Given the description of an element on the screen output the (x, y) to click on. 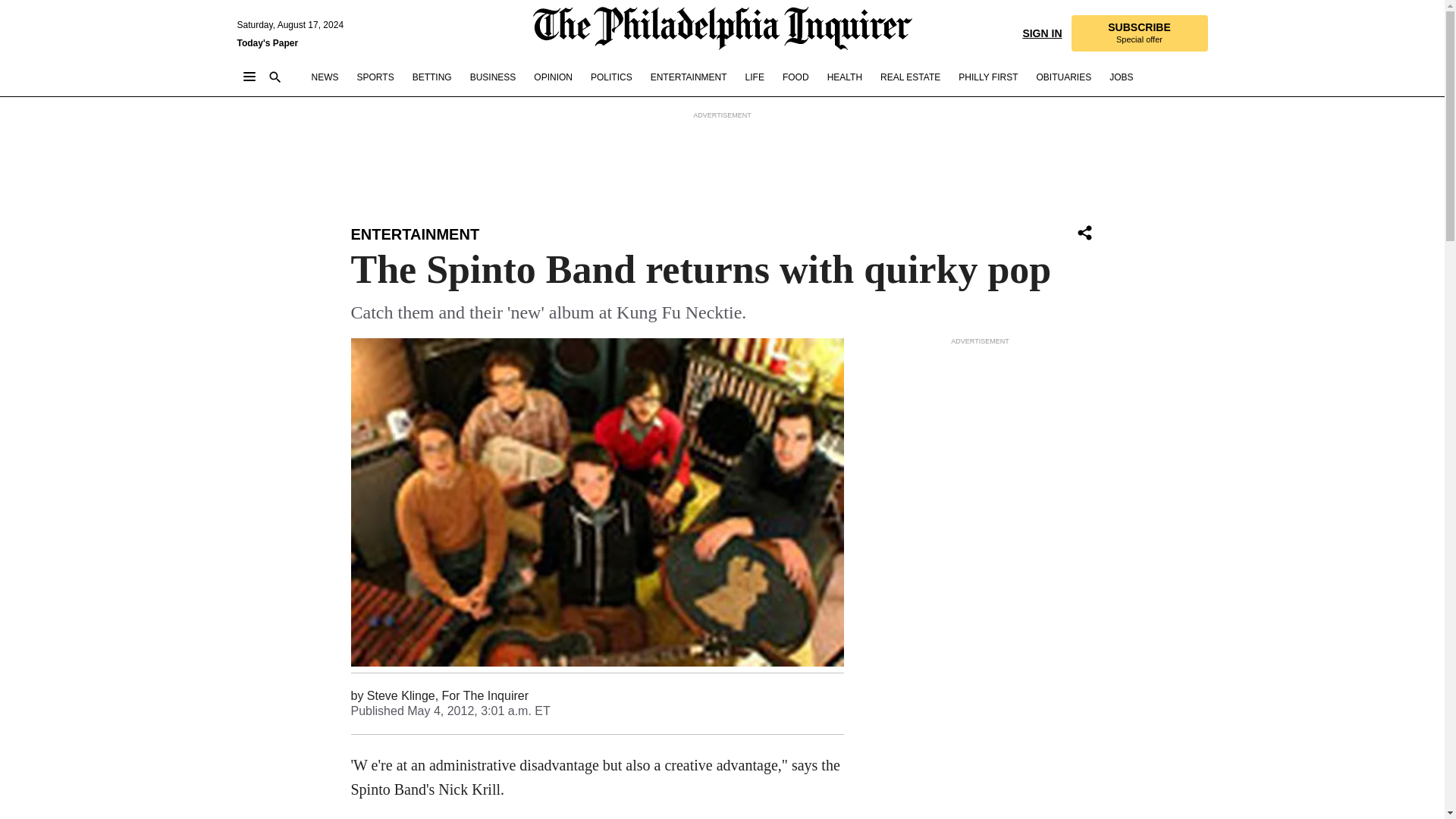
BETTING (431, 77)
REAL ESTATE (910, 77)
SPORTS (375, 77)
HEALTH (844, 77)
POLITICS (611, 77)
PHILLY FIRST (987, 77)
BUSINESS (493, 77)
Share Icon (1084, 233)
LIFE (754, 77)
Share Icon (1084, 232)
